Given the description of an element on the screen output the (x, y) to click on. 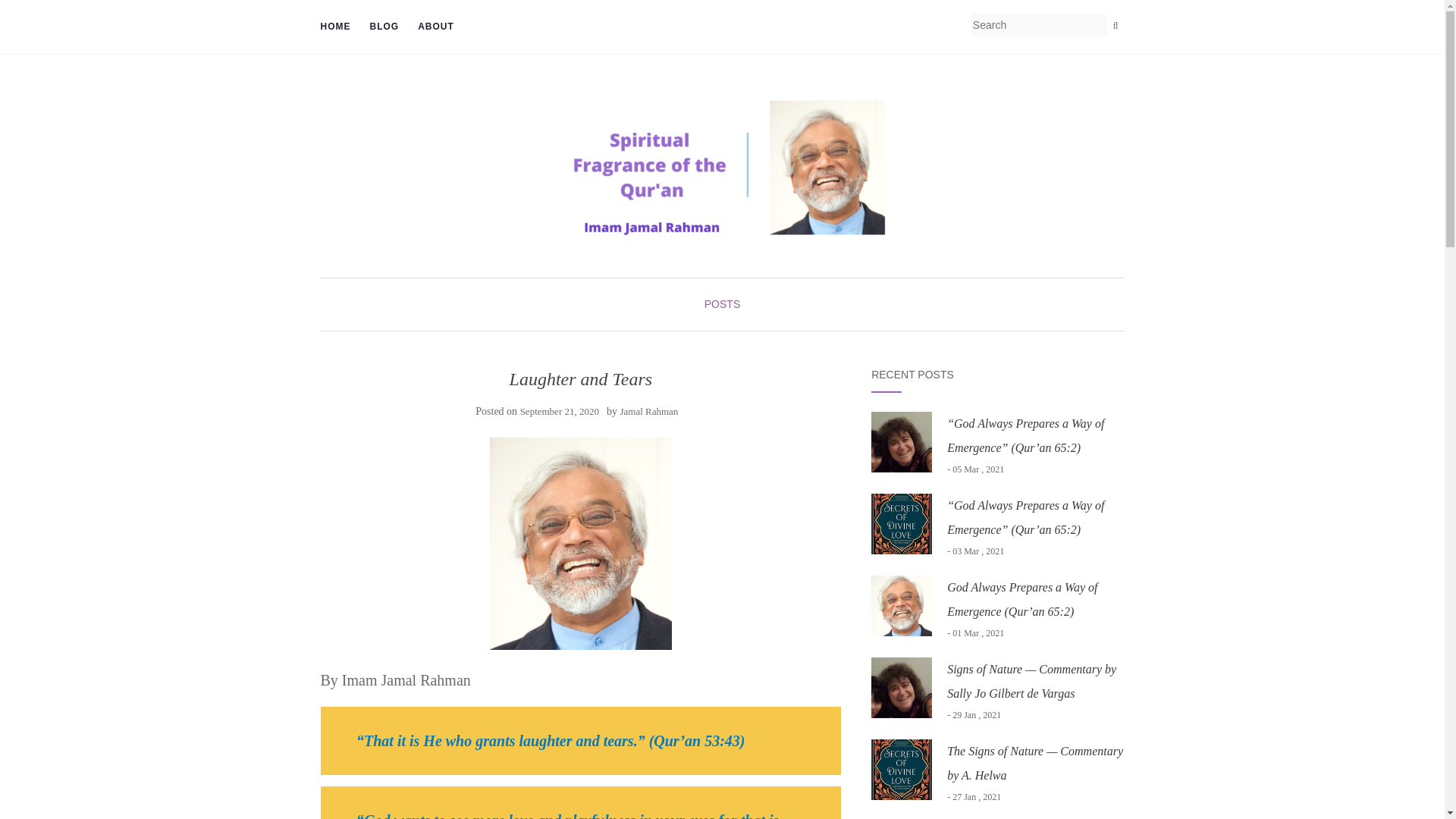
POSTS (721, 304)
September 21, 2020 (558, 410)
Jamal Rahman (649, 410)
Laughter and Tears (580, 543)
